Given the description of an element on the screen output the (x, y) to click on. 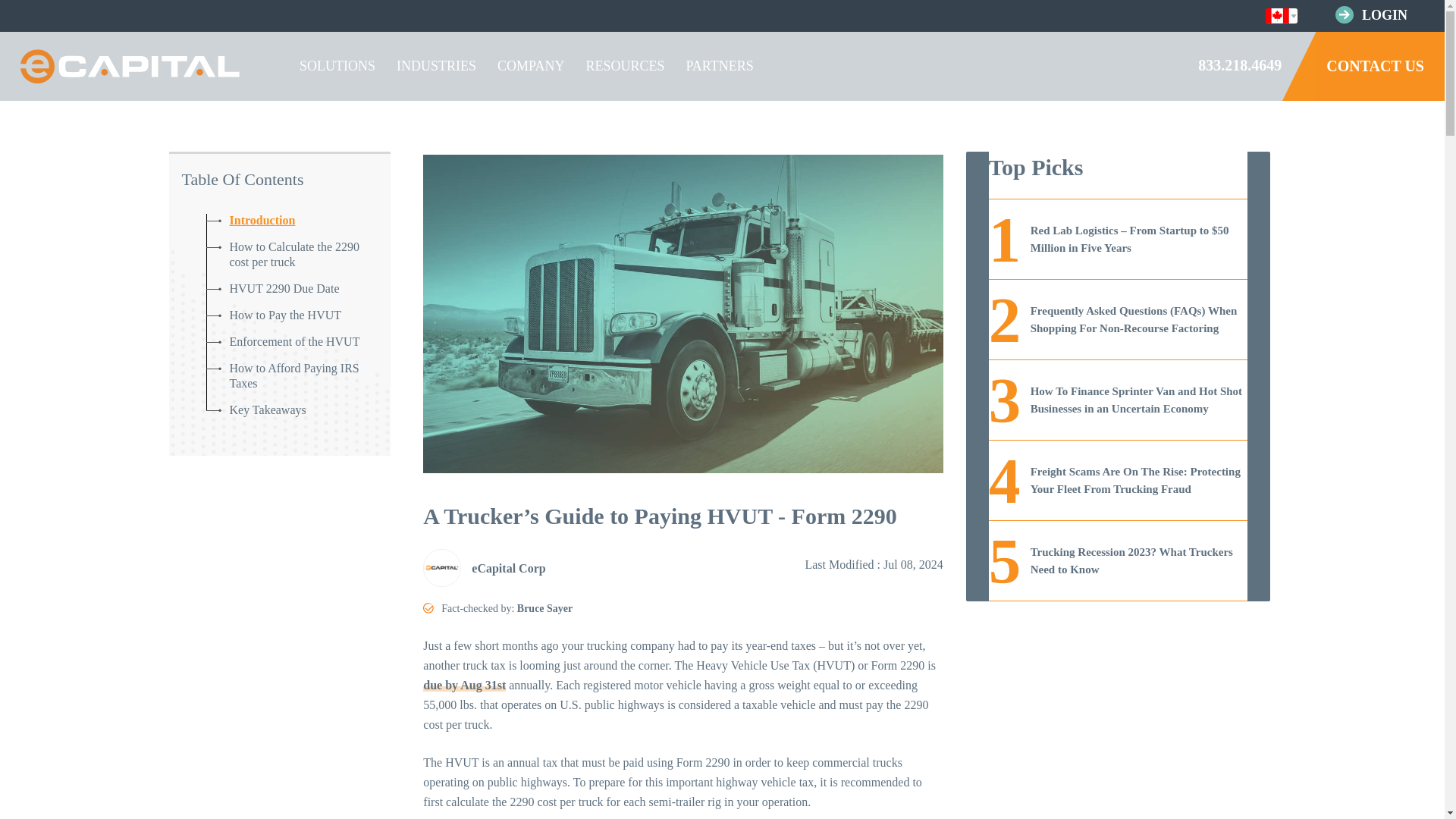
SOLUTIONS (337, 65)
LOGIN (1384, 14)
INDUSTRIES (436, 65)
